Given the description of an element on the screen output the (x, y) to click on. 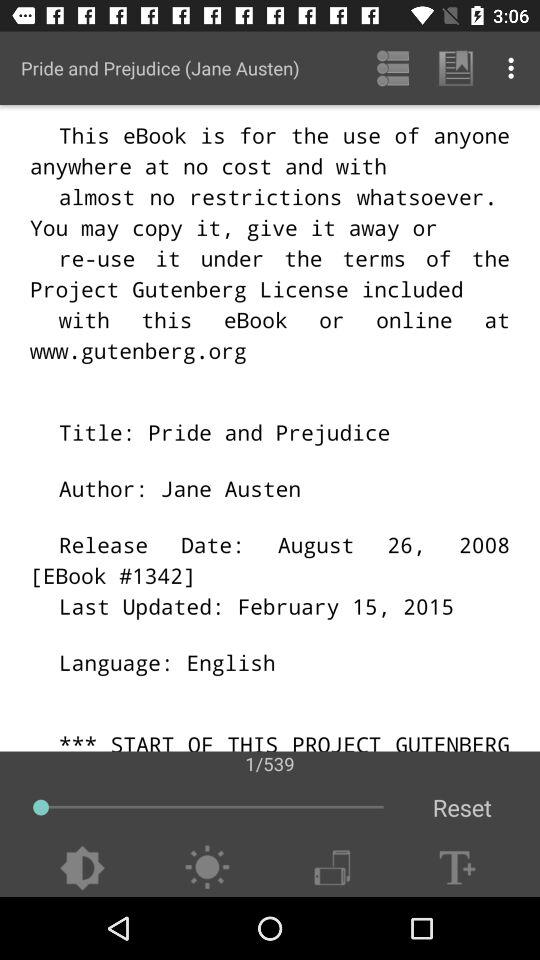
swipe until the reset icon (462, 807)
